Given the description of an element on the screen output the (x, y) to click on. 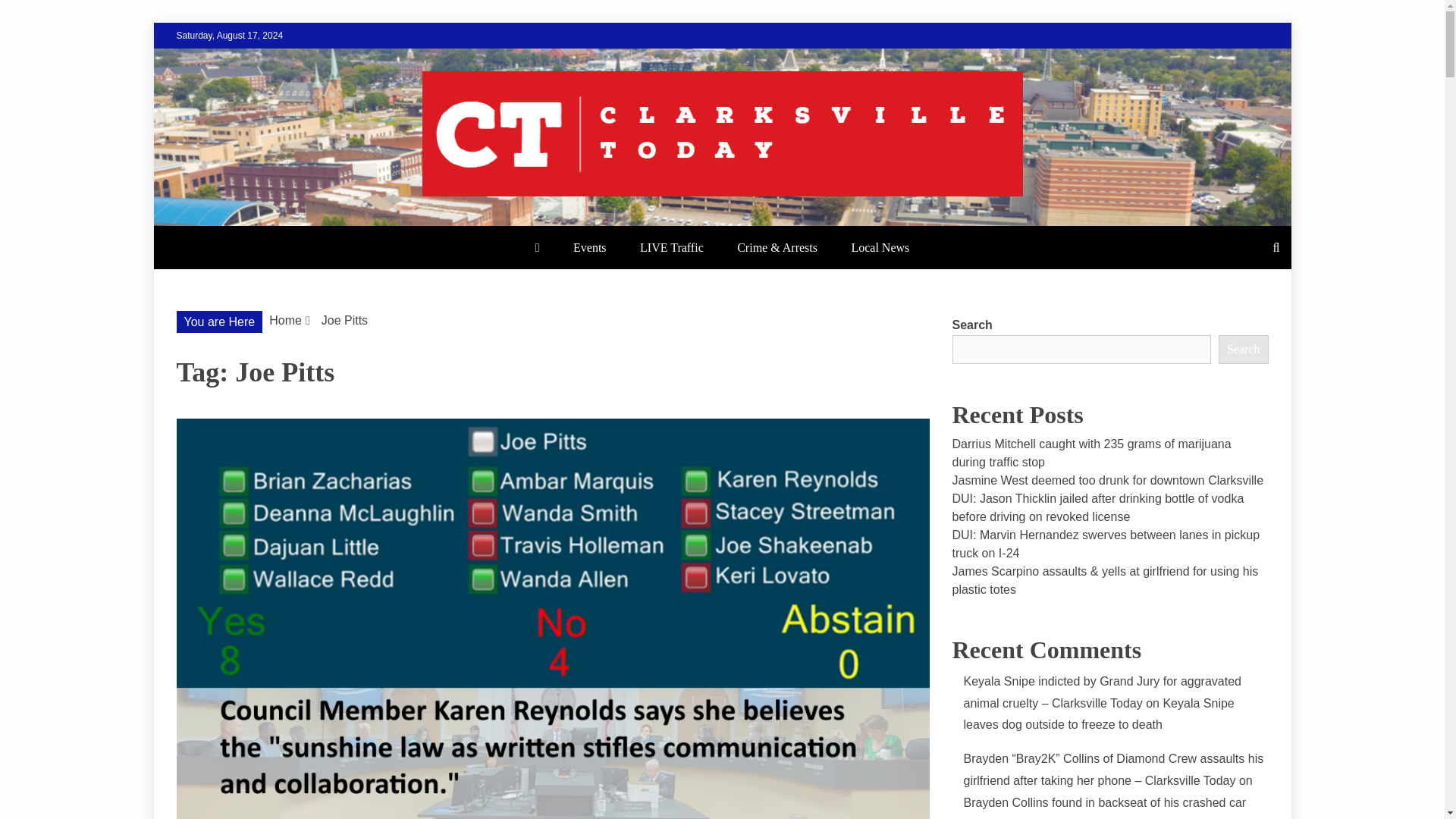
Search (31, 13)
LIVE Traffic (671, 247)
Home (285, 319)
Local News (879, 247)
CLARKSVILLE TODAY (351, 224)
Events (589, 247)
